Given the description of an element on the screen output the (x, y) to click on. 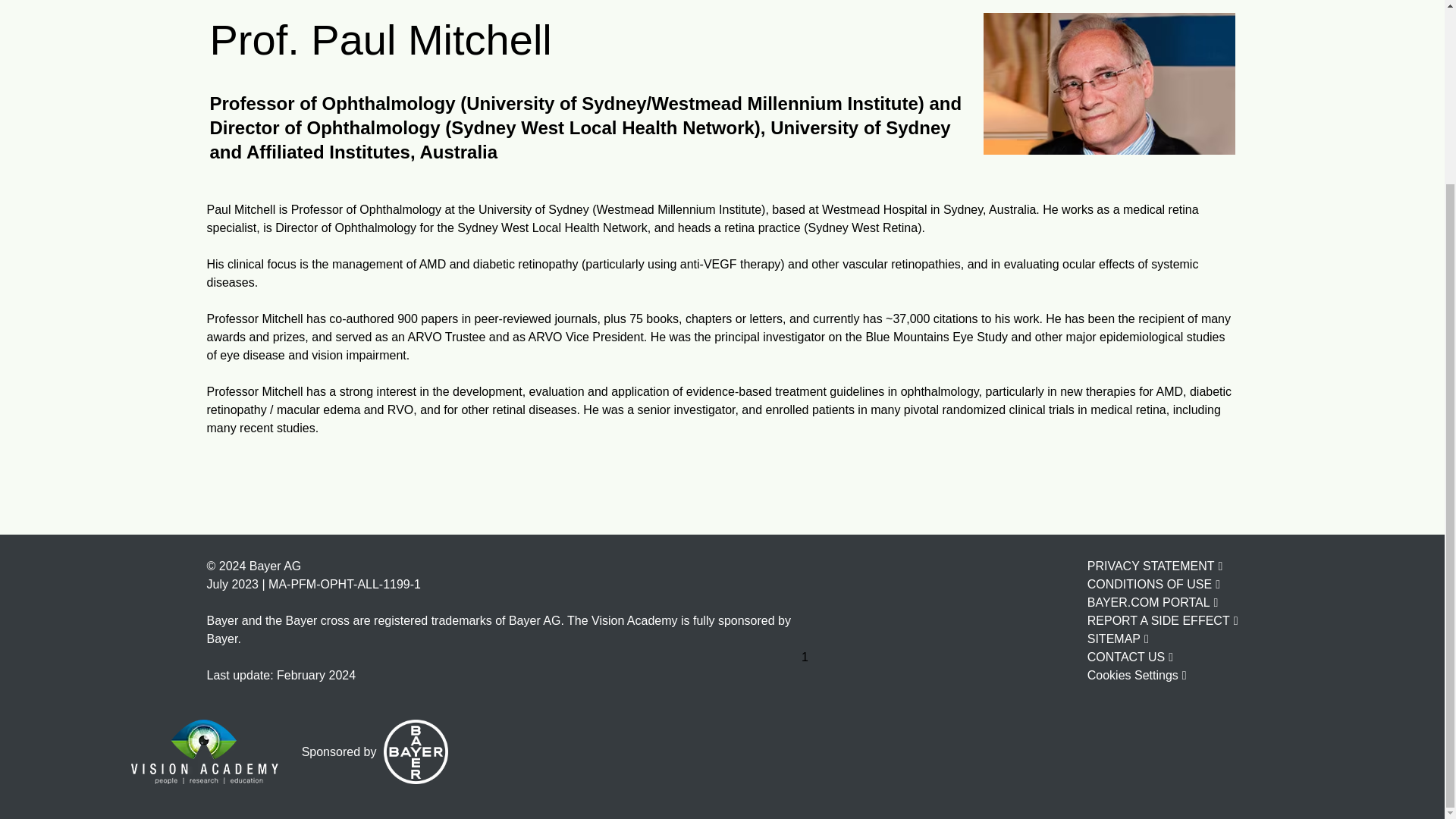
BAYER.COM PORTAL (1152, 602)
vision-academy-logo (204, 751)
Cookies Settings (1136, 675)
CONTACT US (1130, 657)
SITEMAP (1117, 638)
CONDITIONS OF USE (1153, 584)
PRIVACY STATEMENT (1155, 566)
Title (1108, 83)
Title (416, 751)
REPORT A SIDE EFFECT (1163, 620)
